Given the description of an element on the screen output the (x, y) to click on. 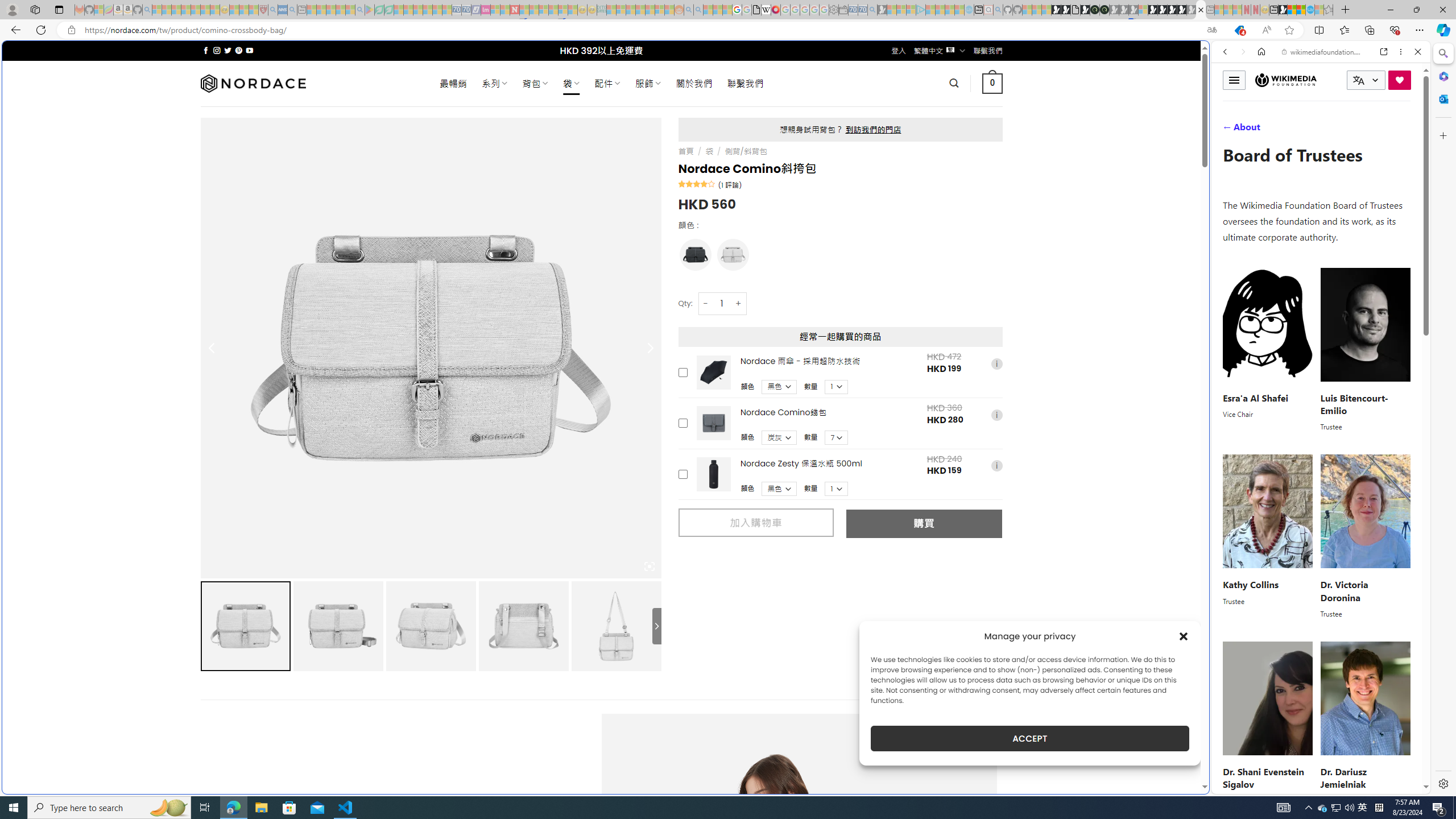
Class: iconic-woothumbs-fullscreen (649, 566)
- (705, 303)
Dr. Victoria Doronina (1343, 591)
Wikimedia Foundation (1285, 79)
Dr. Dariusz Jemielniak (1343, 777)
